Given the description of an element on the screen output the (x, y) to click on. 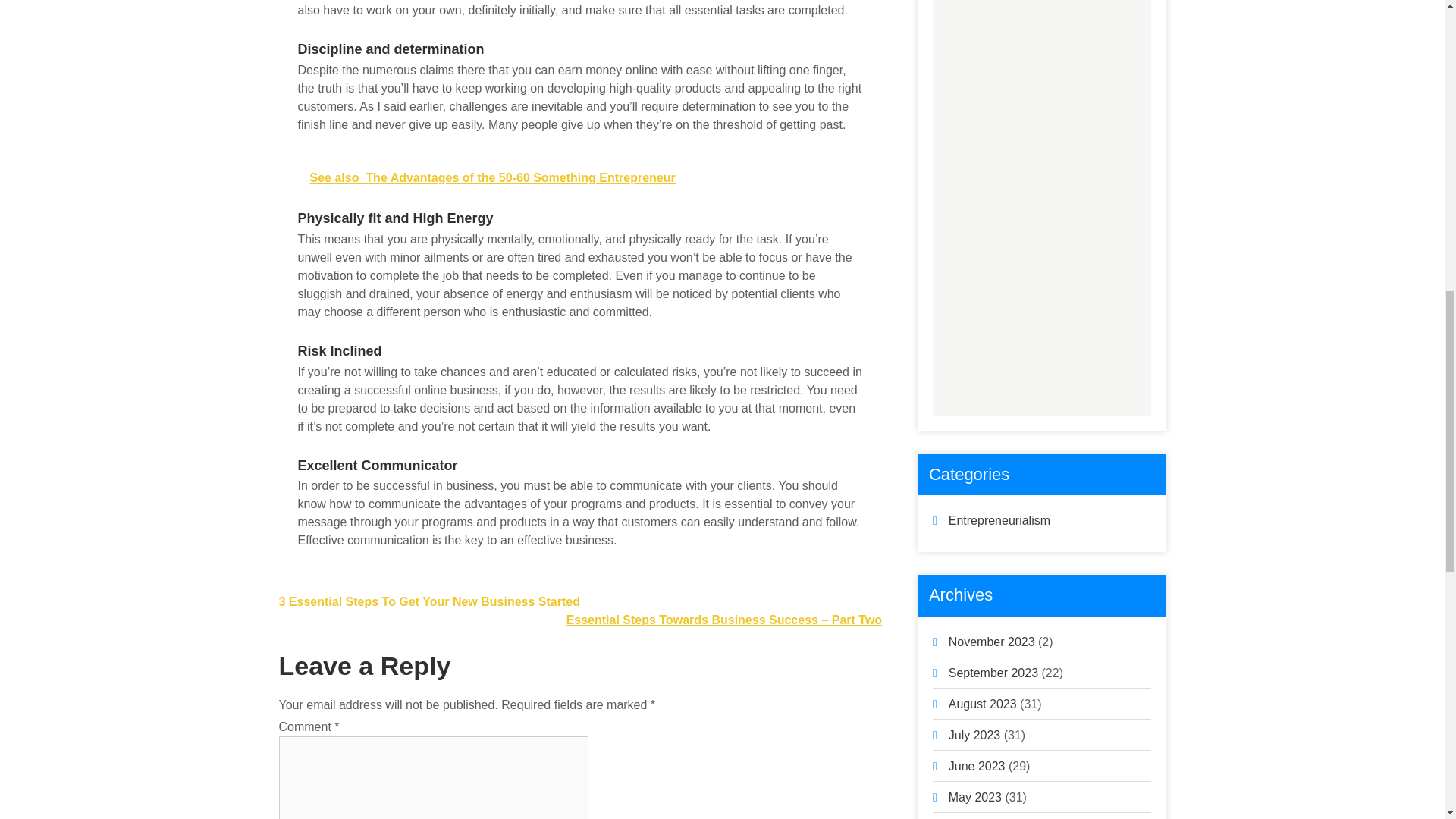
November 2023 (992, 641)
Entrepreneurialism (999, 520)
See also  The Advantages of the 50-60 Something Entrepreneur (580, 178)
May 2023 (975, 797)
September 2023 (993, 672)
June 2023 (977, 766)
August 2023 (982, 703)
3 Essential Steps To Get Your New Business Started (429, 601)
July 2023 (975, 735)
